Given the description of an element on the screen output the (x, y) to click on. 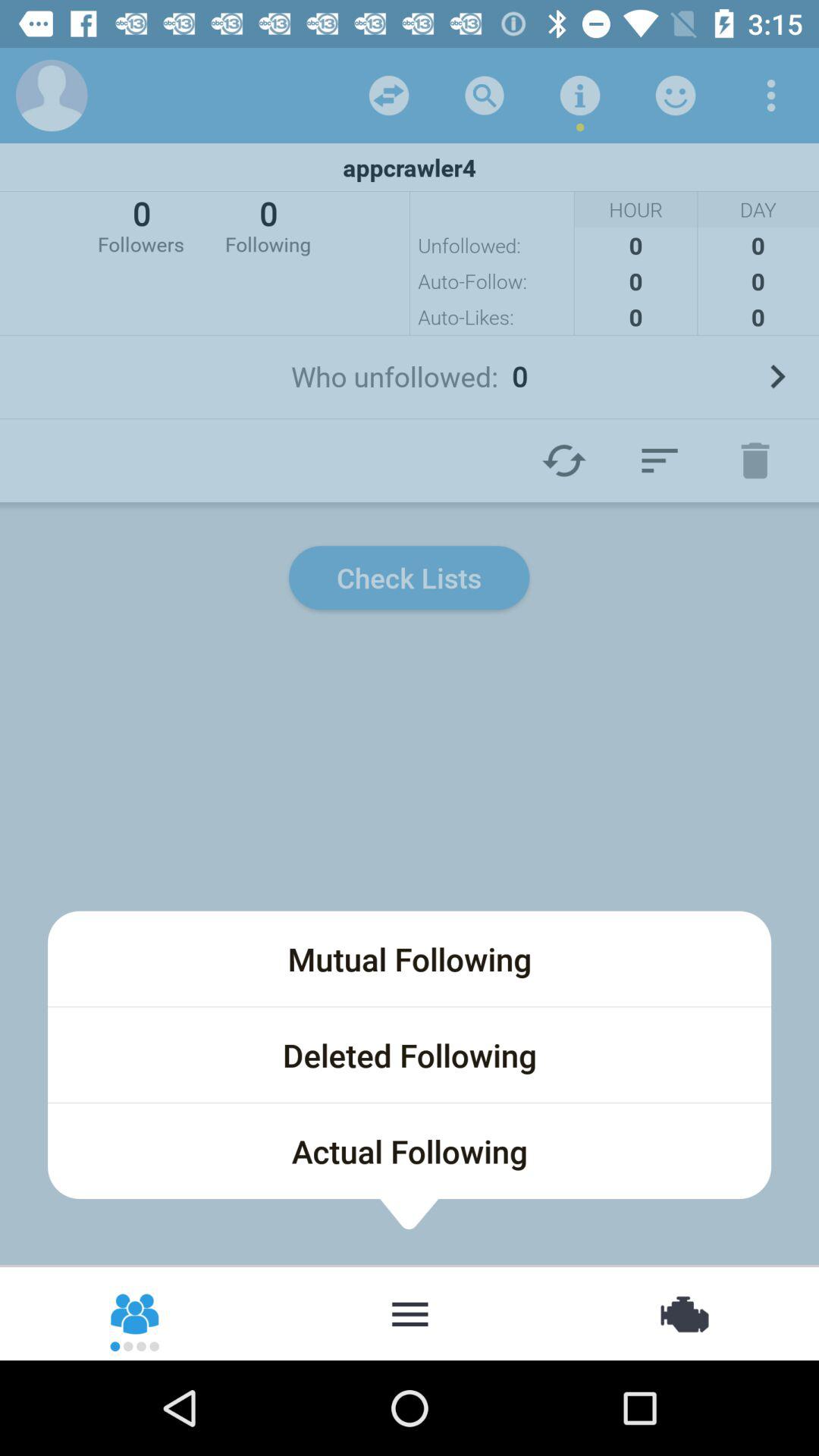
forward/backward (388, 95)
